Given the description of an element on the screen output the (x, y) to click on. 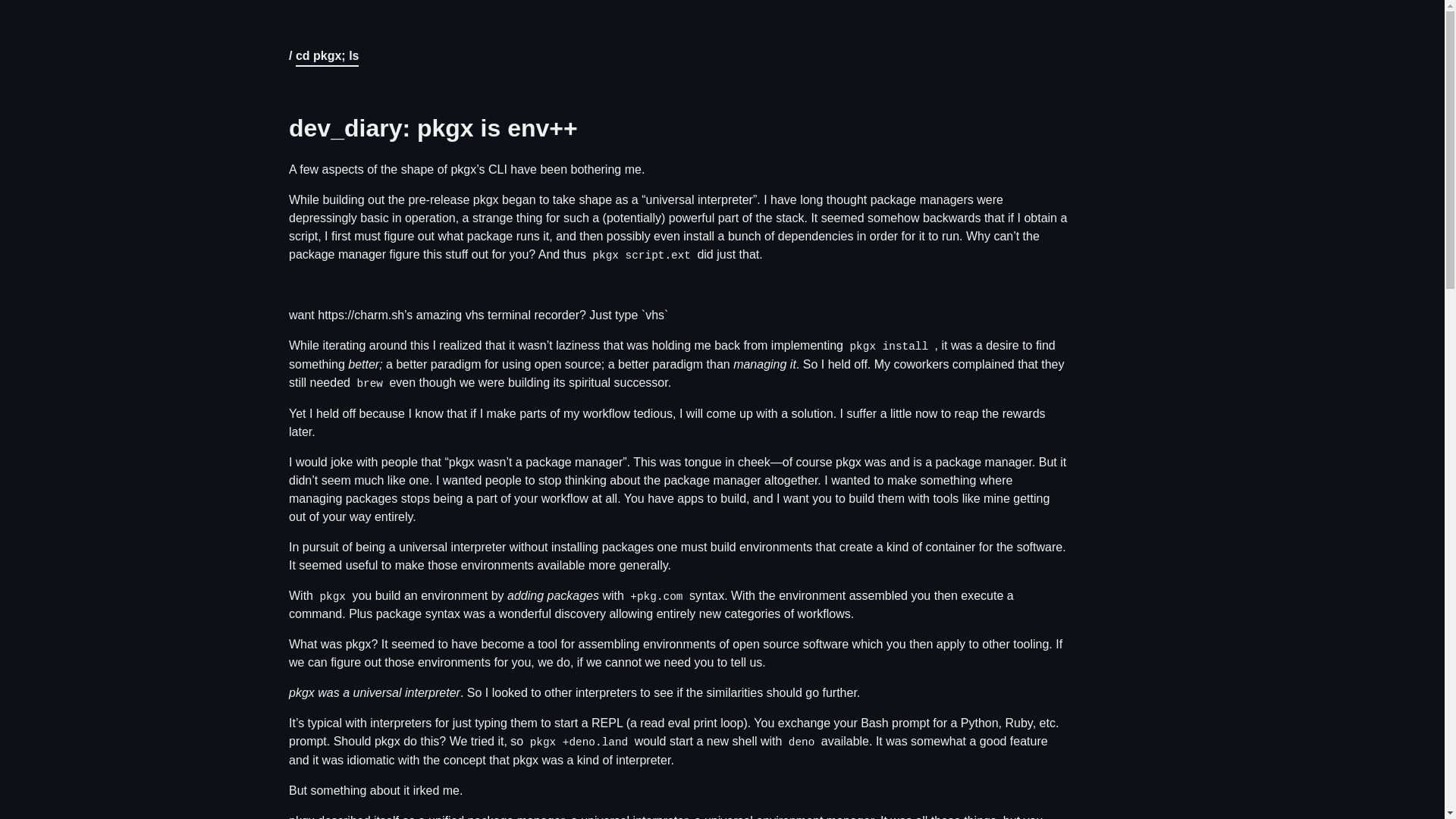
read eval print loop (691, 722)
cd pkgx; ls (327, 57)
